Given the description of an element on the screen output the (x, y) to click on. 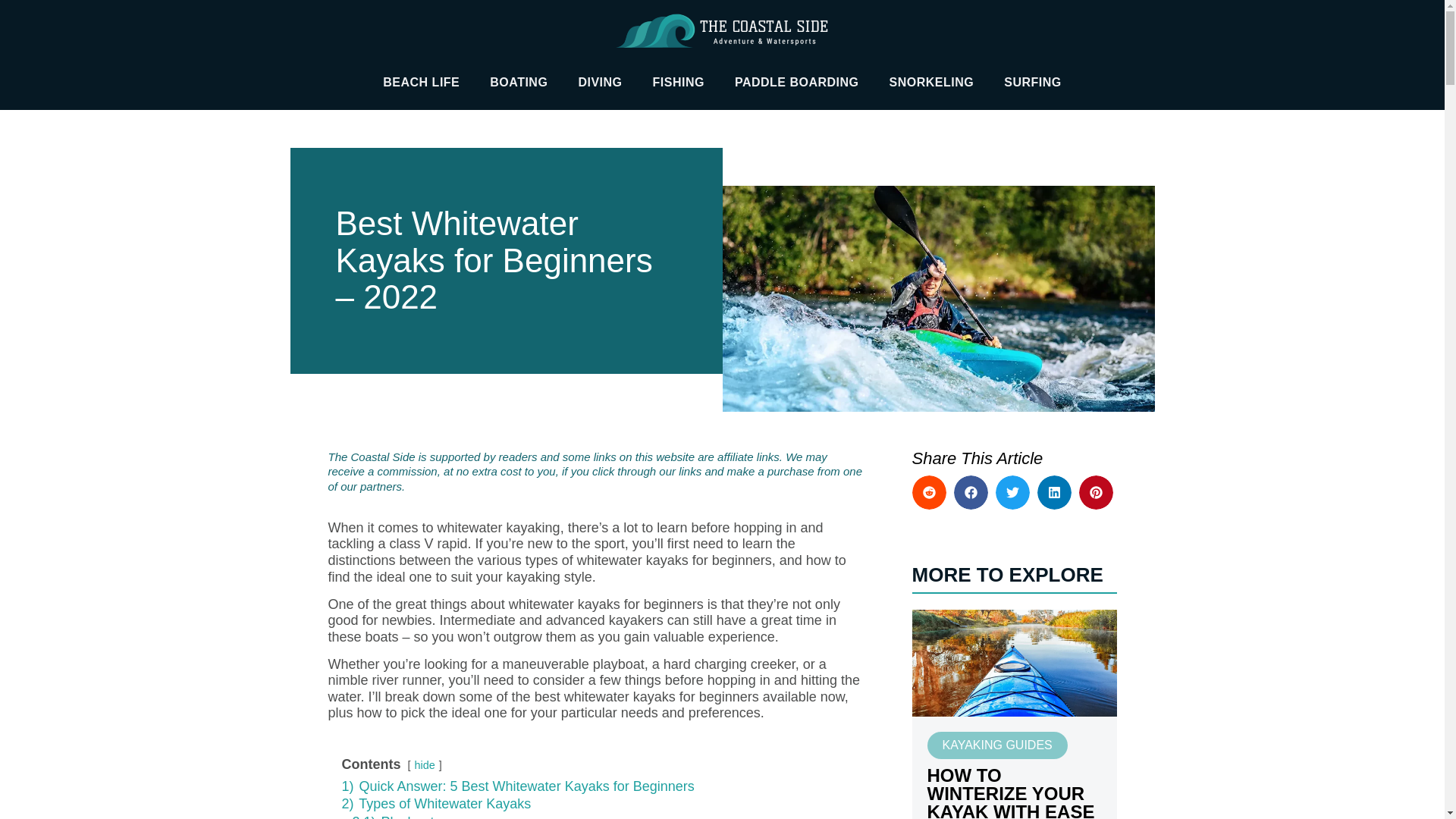
FISHING (678, 82)
DIVING (599, 82)
BEACH LIFE (421, 82)
SURFING (1032, 82)
SNORKELING (932, 82)
BOATING (518, 82)
How To Winterize Your Kayak with Ease This Fall (1013, 661)
PADDLE BOARDING (797, 82)
